Given the description of an element on the screen output the (x, y) to click on. 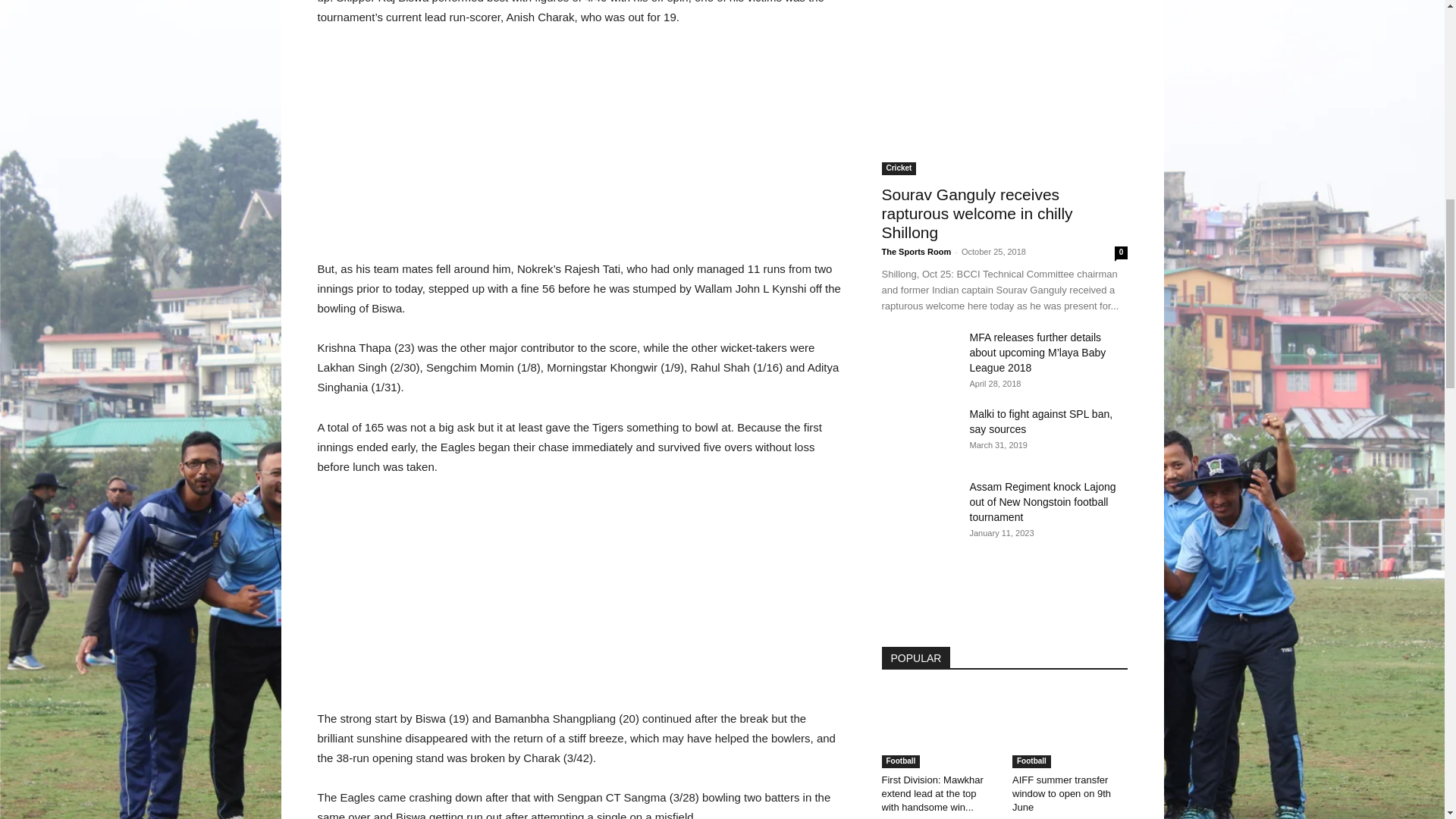
Advertisement (580, 152)
Advertisement (580, 602)
